Given the description of an element on the screen output the (x, y) to click on. 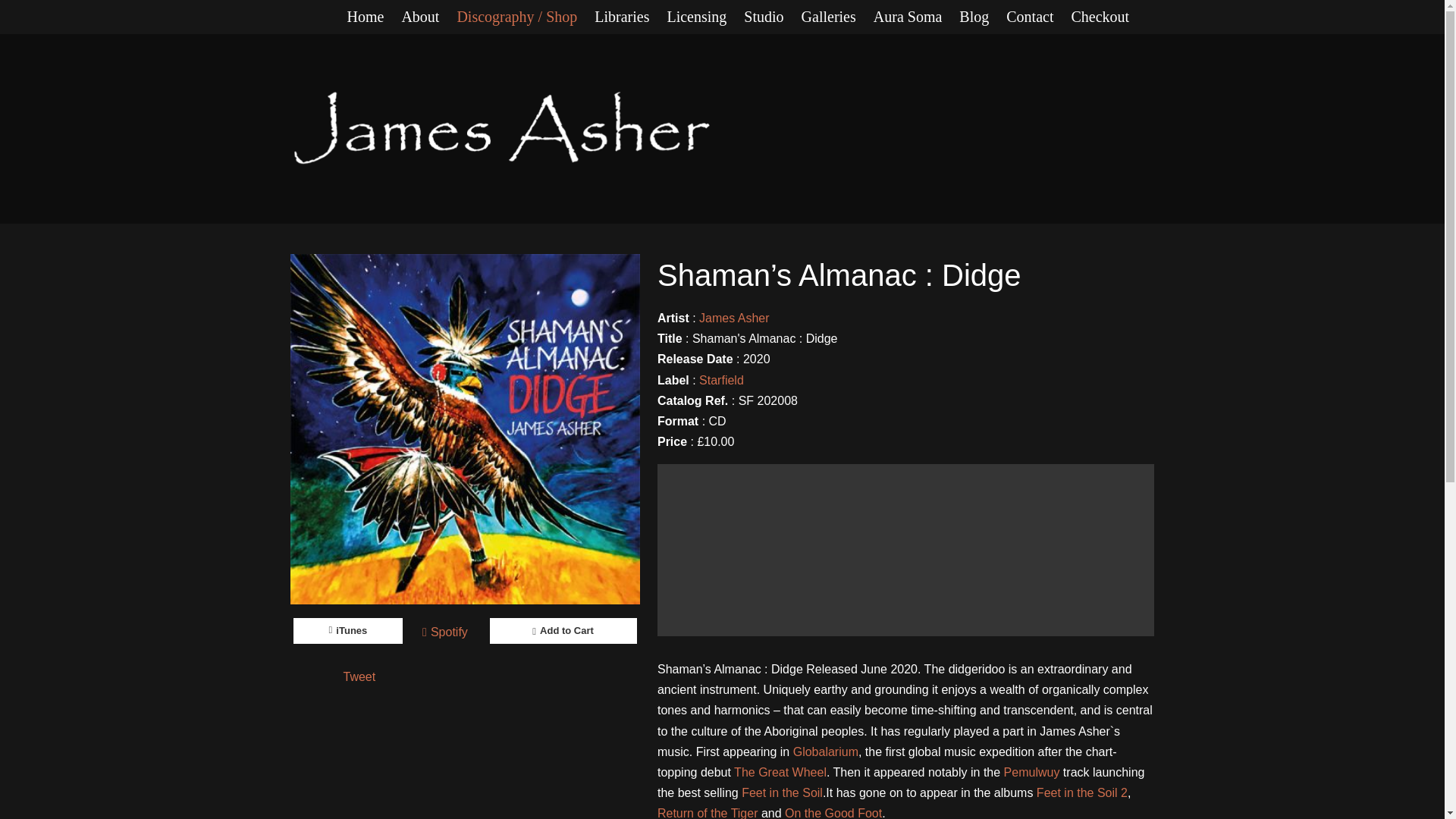
Home (374, 17)
James Asher biography (429, 17)
About (429, 17)
